Given the description of an element on the screen output the (x, y) to click on. 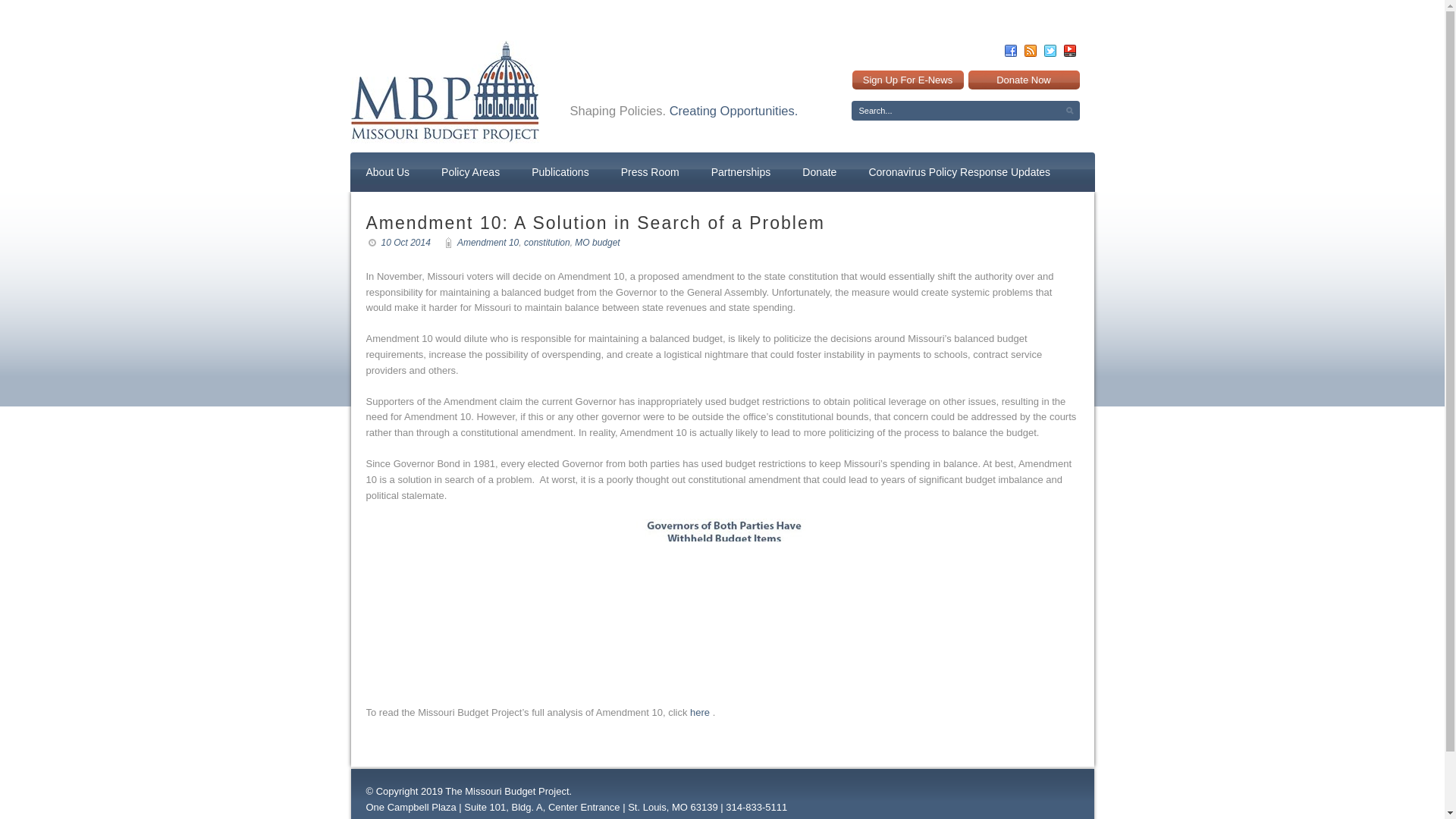
Press Room (649, 171)
Policy Areas (469, 171)
Donate Now (1023, 79)
Search... (964, 110)
Sign Up For E-News (907, 79)
Publications (559, 171)
Donate (818, 171)
Partnerships (740, 171)
About Us (388, 171)
